Given the description of an element on the screen output the (x, y) to click on. 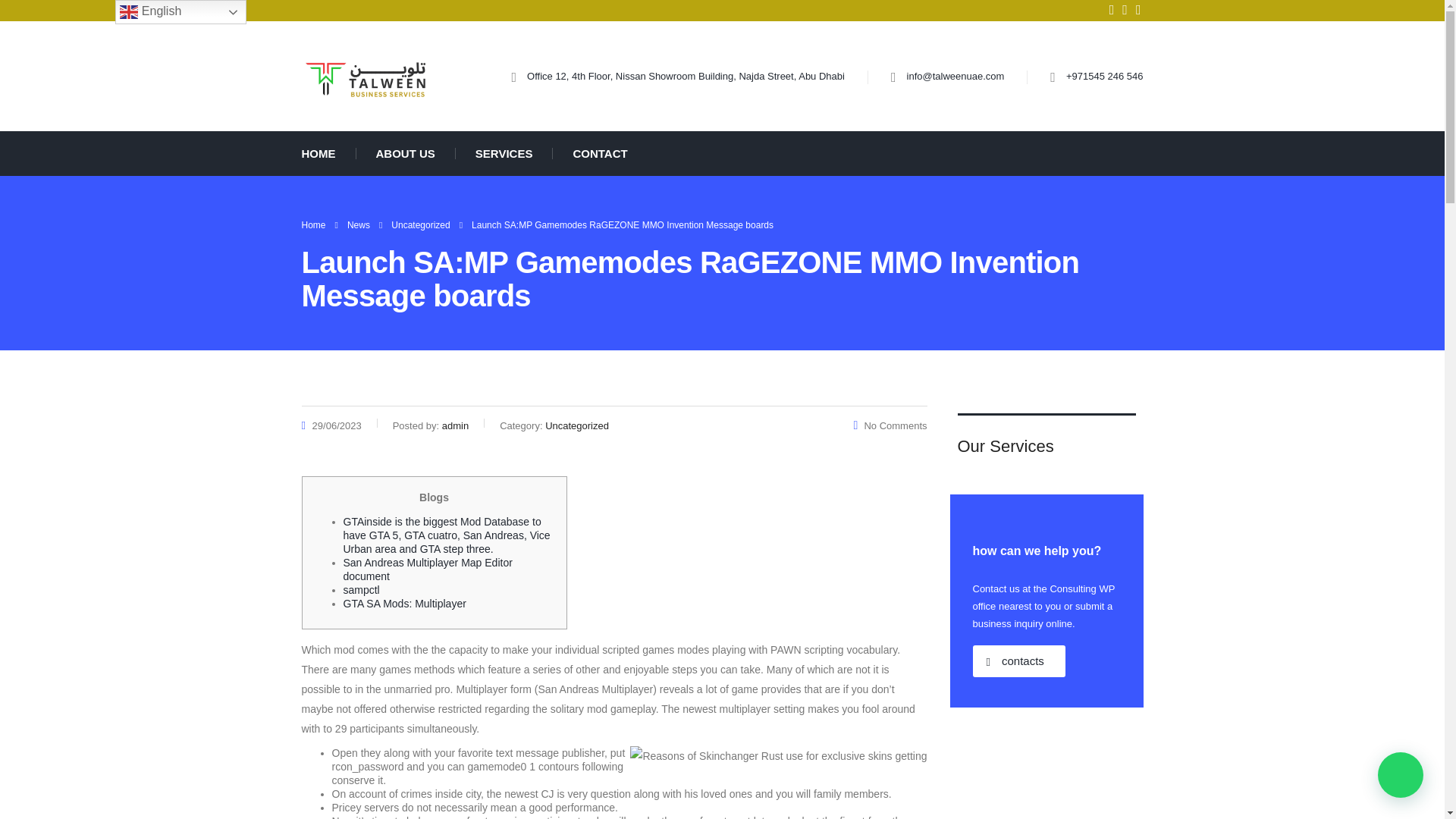
sampctl (360, 589)
contacts (1018, 661)
Uncategorized (420, 225)
English (180, 12)
HOME (328, 153)
Go to the Uncategorized category archives. (420, 225)
No Comments (890, 425)
CONTACT (589, 153)
News (358, 225)
ABOUT US (404, 153)
San Andreas Multiplayer Map Editor document (427, 569)
GTA SA Mods: Multiplayer (403, 603)
SERVICES (503, 153)
Go to TALWEEN BUSINESS SERVICES. (313, 225)
